Given the description of an element on the screen output the (x, y) to click on. 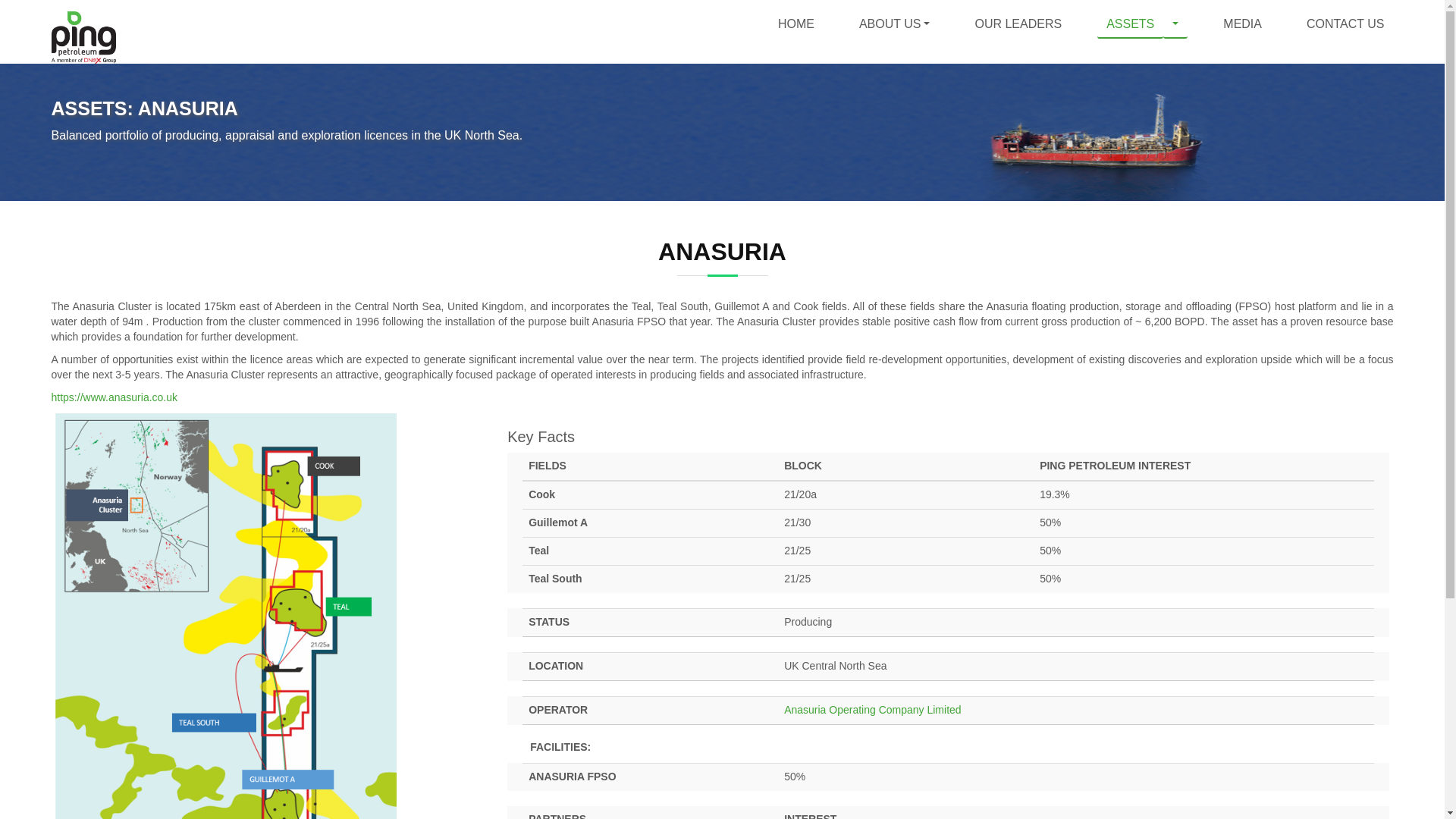
ASSETS (1130, 24)
OUR LEADERS (1017, 23)
CONTACT US (1345, 23)
MEDIA (1242, 23)
Anasuria Operating Company Limited (872, 709)
HOME (796, 23)
ABOUT US (894, 23)
